Given the description of an element on the screen output the (x, y) to click on. 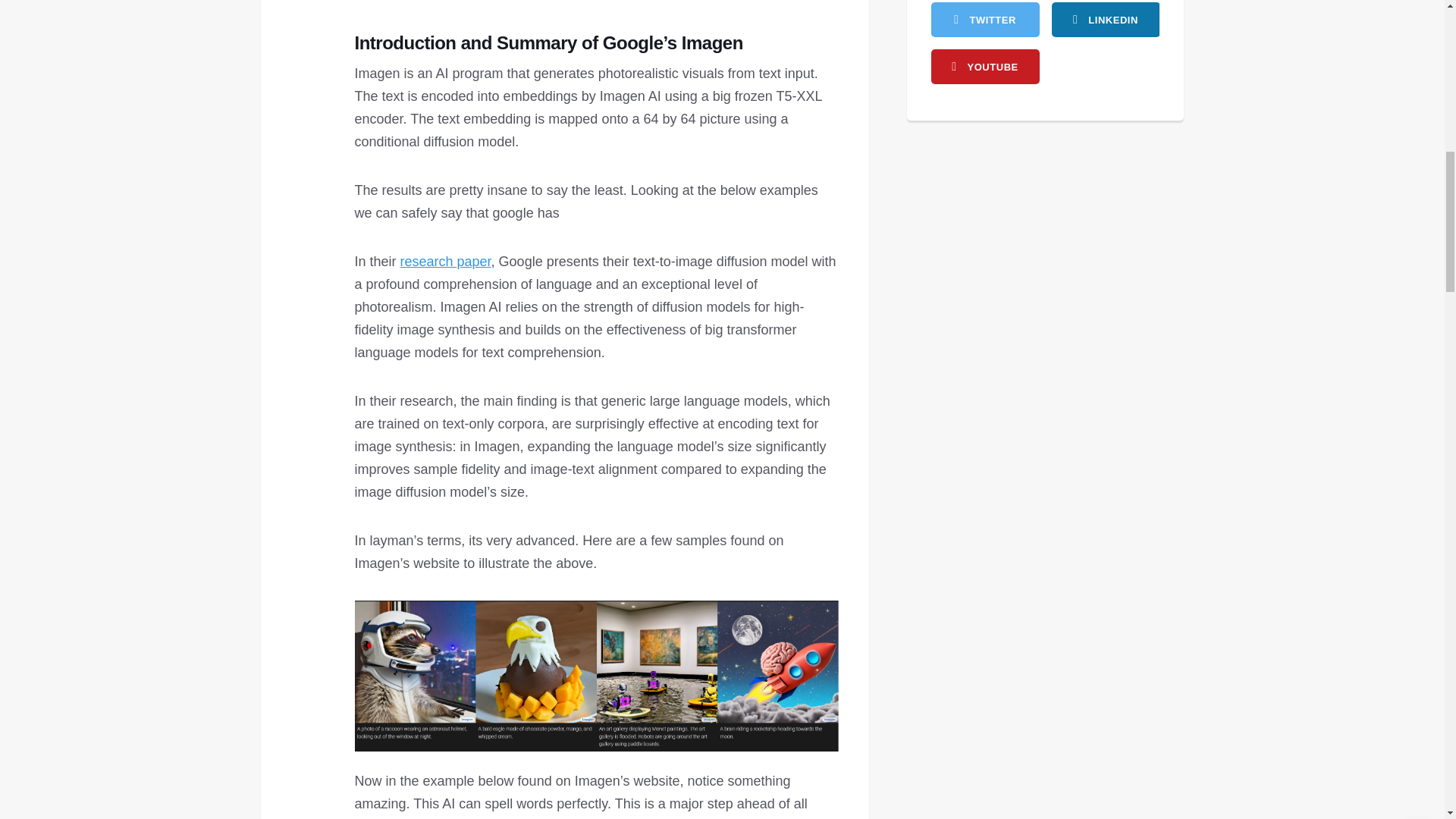
rss (1104, 19)
twitter (985, 19)
youtube (985, 66)
